Given the description of an element on the screen output the (x, y) to click on. 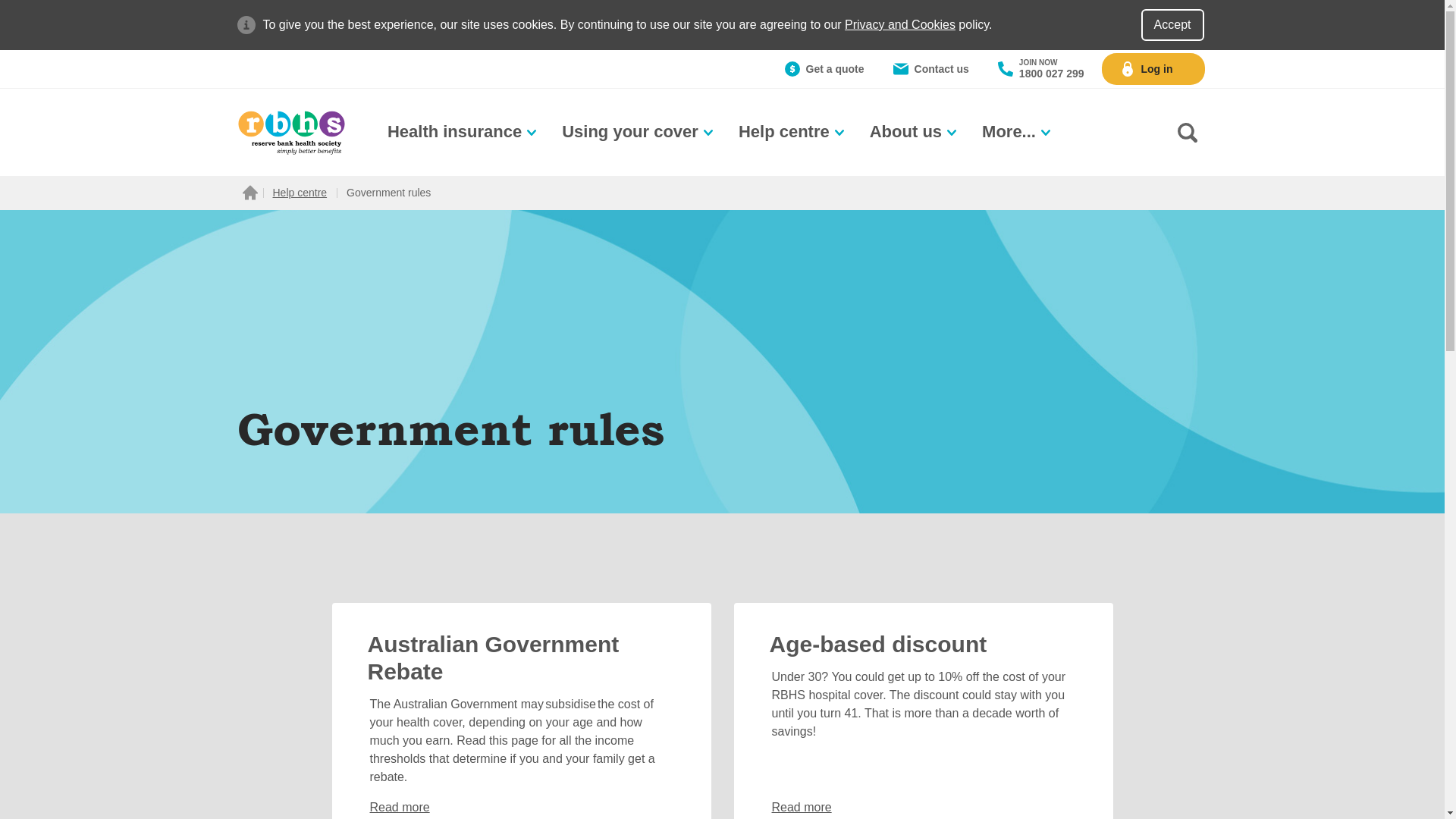
JOIN NOW
1800 027 299 Element type: text (1040, 68)
Help centre Element type: text (792, 131)
Read more Element type: text (801, 807)
Health insurance Element type: text (463, 131)
Log in Element type: text (1152, 68)
Home Element type: text (249, 192)
Get a quote Element type: text (823, 68)
Using your cover Element type: text (638, 131)
Contact us Element type: text (931, 68)
About us Element type: text (914, 131)
Help centre Element type: text (299, 192)
Government rules Element type: text (388, 192)
Read more Element type: text (399, 807)
Privacy and Cookies Element type: text (899, 24)
More... Element type: text (1017, 131)
Accept Element type: text (1172, 24)
